Given the description of an element on the screen output the (x, y) to click on. 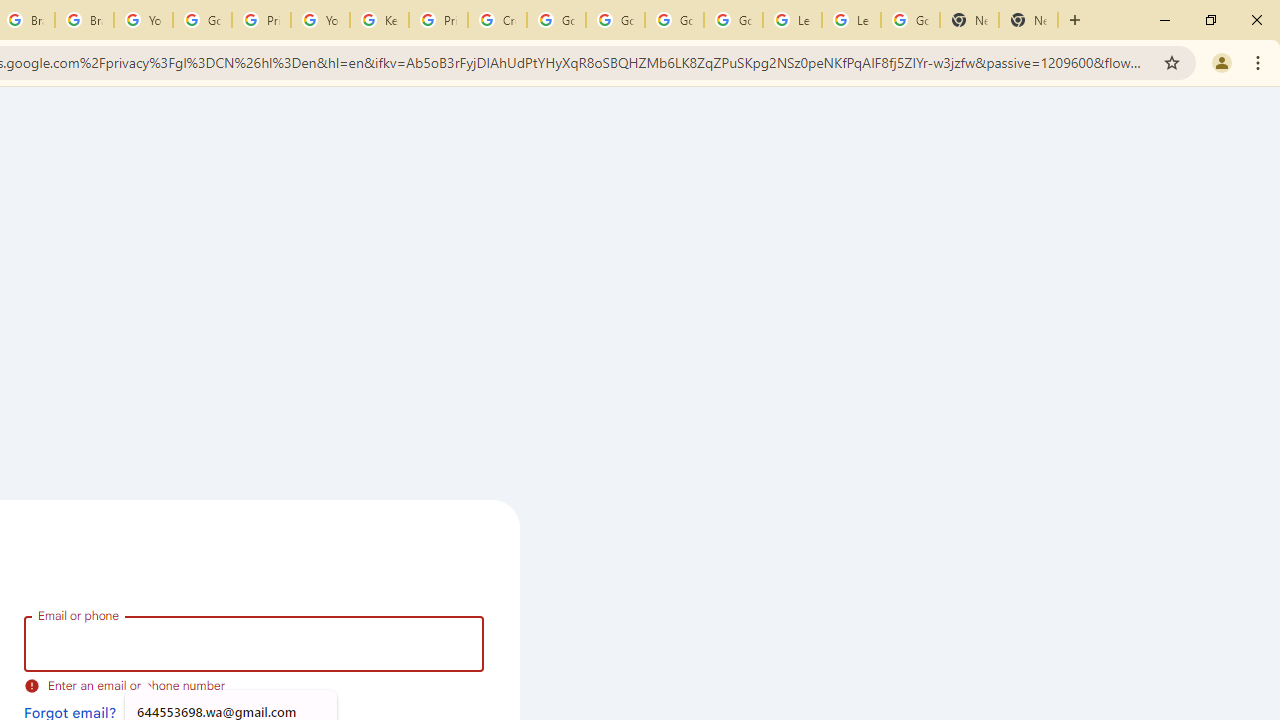
YouTube (319, 20)
Google Account Help (201, 20)
Google Account Help (674, 20)
Create your Google Account (497, 20)
Google Account Help (615, 20)
YouTube (142, 20)
New Tab (1028, 20)
